Given the description of an element on the screen output the (x, y) to click on. 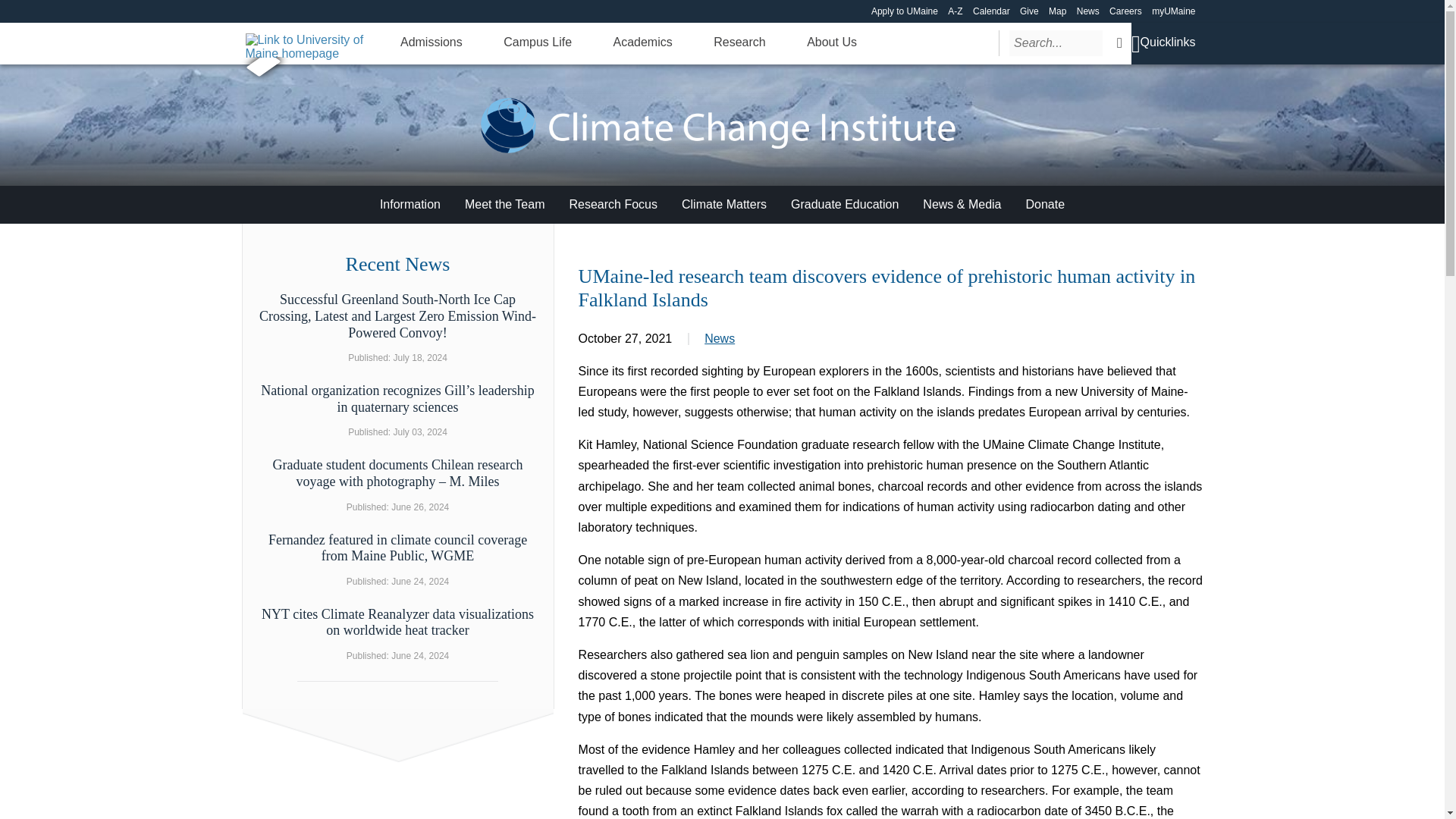
Apply to UMaine (903, 10)
News (1088, 10)
Map (1056, 10)
Give (1029, 10)
A-Z (954, 10)
Search (1119, 42)
Calendar (991, 10)
Admissions (431, 42)
Search for: (1055, 43)
myUMaine (1173, 10)
Careers (1125, 10)
